Given the description of an element on the screen output the (x, y) to click on. 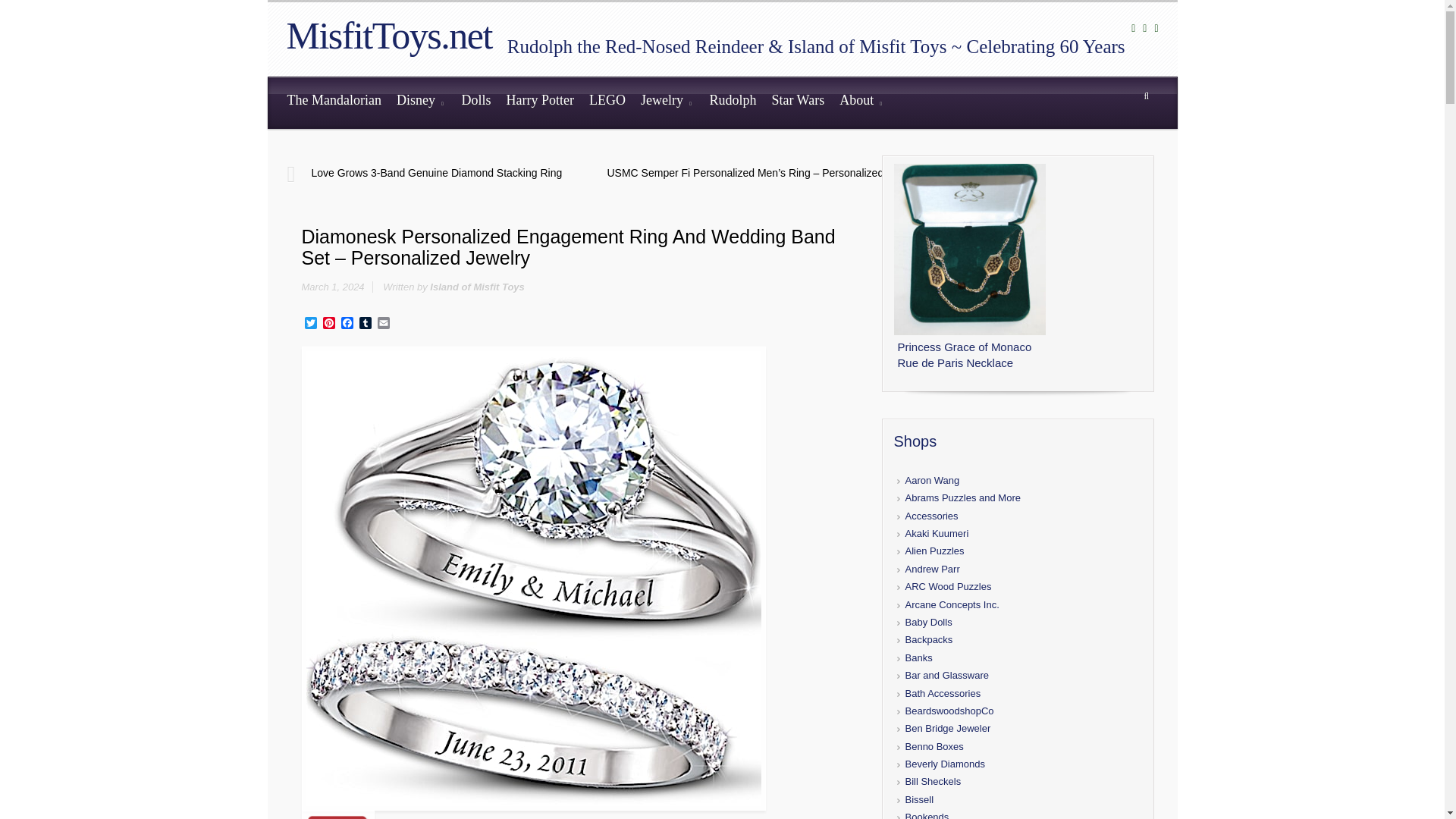
MisfitToys.net (389, 35)
The Mandalorian (333, 101)
Star Wars (796, 101)
Harry Potter (538, 101)
LEGO (606, 101)
Disney (421, 101)
View all posts by Island of Misfit Toys (476, 286)
The Mandalorian (333, 101)
Rudolph (731, 101)
Jewelry (667, 101)
